Given the description of an element on the screen output the (x, y) to click on. 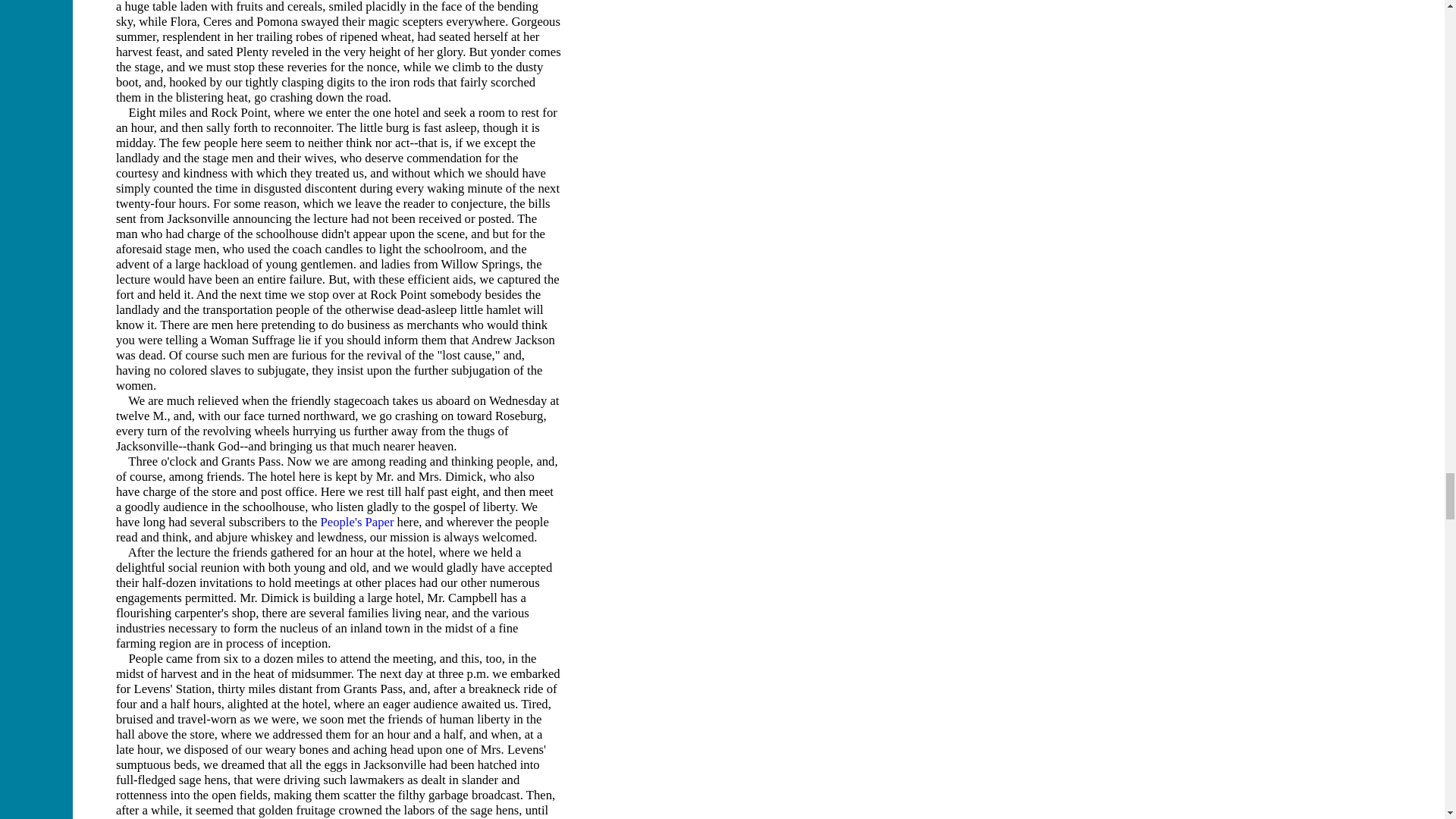
People's Paper (357, 522)
